Given the description of an element on the screen output the (x, y) to click on. 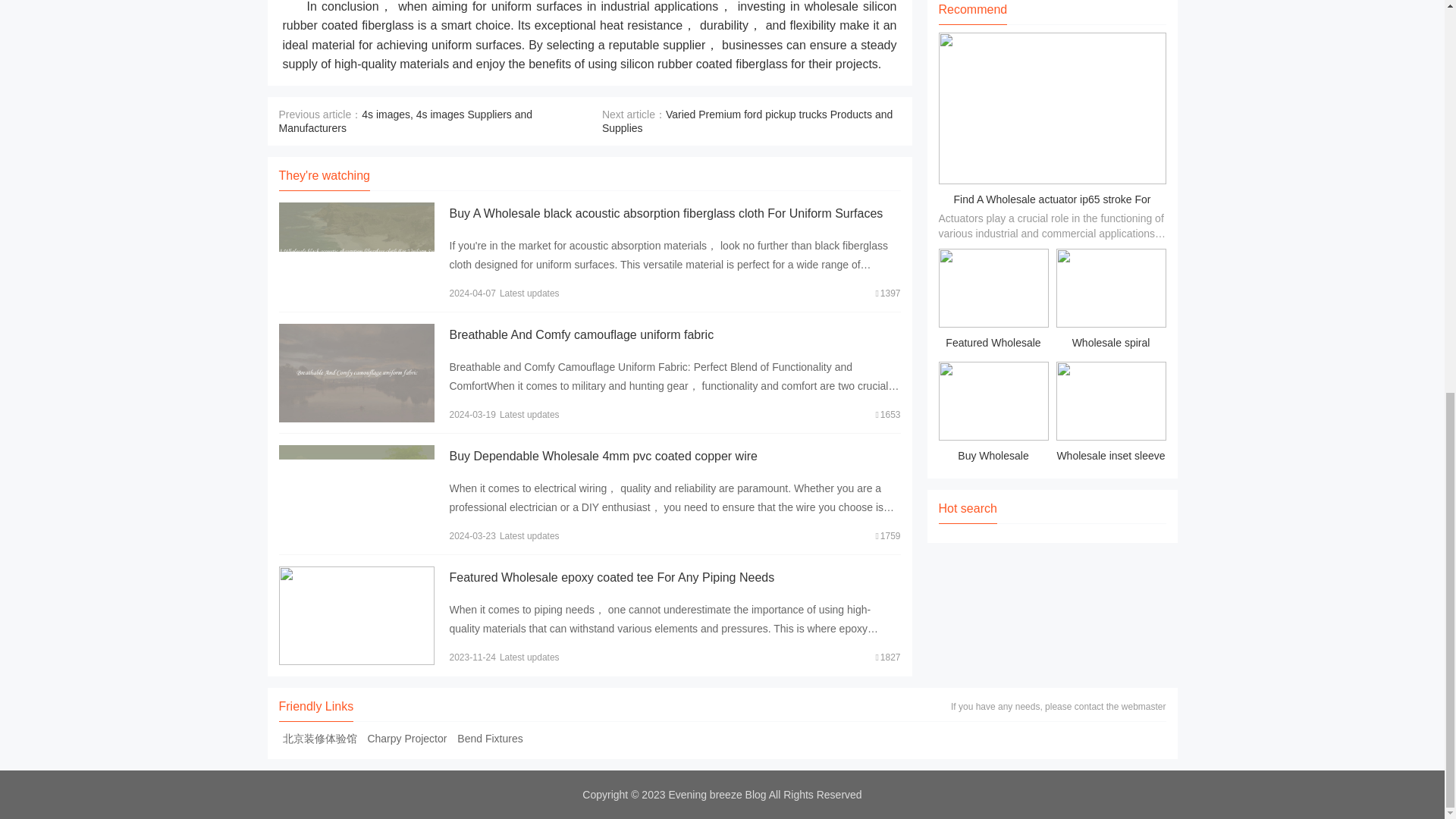
Find A Wholesale actuator ip65 stroke For Clean Power (1052, 210)
Featured Wholesale epoxy coated tee For Any Piping Needs (611, 576)
Featured Wholesale degree replacements For Any Piping Needs (993, 300)
Bend Fixtures (488, 738)
4s images, 4s images Suppliers and Manufacturers (405, 121)
Buy Dependable Wholesale 4mm pvc coated copper wire (602, 455)
Breathable And Comfy camouflage uniform fabric (580, 334)
